Given the description of an element on the screen output the (x, y) to click on. 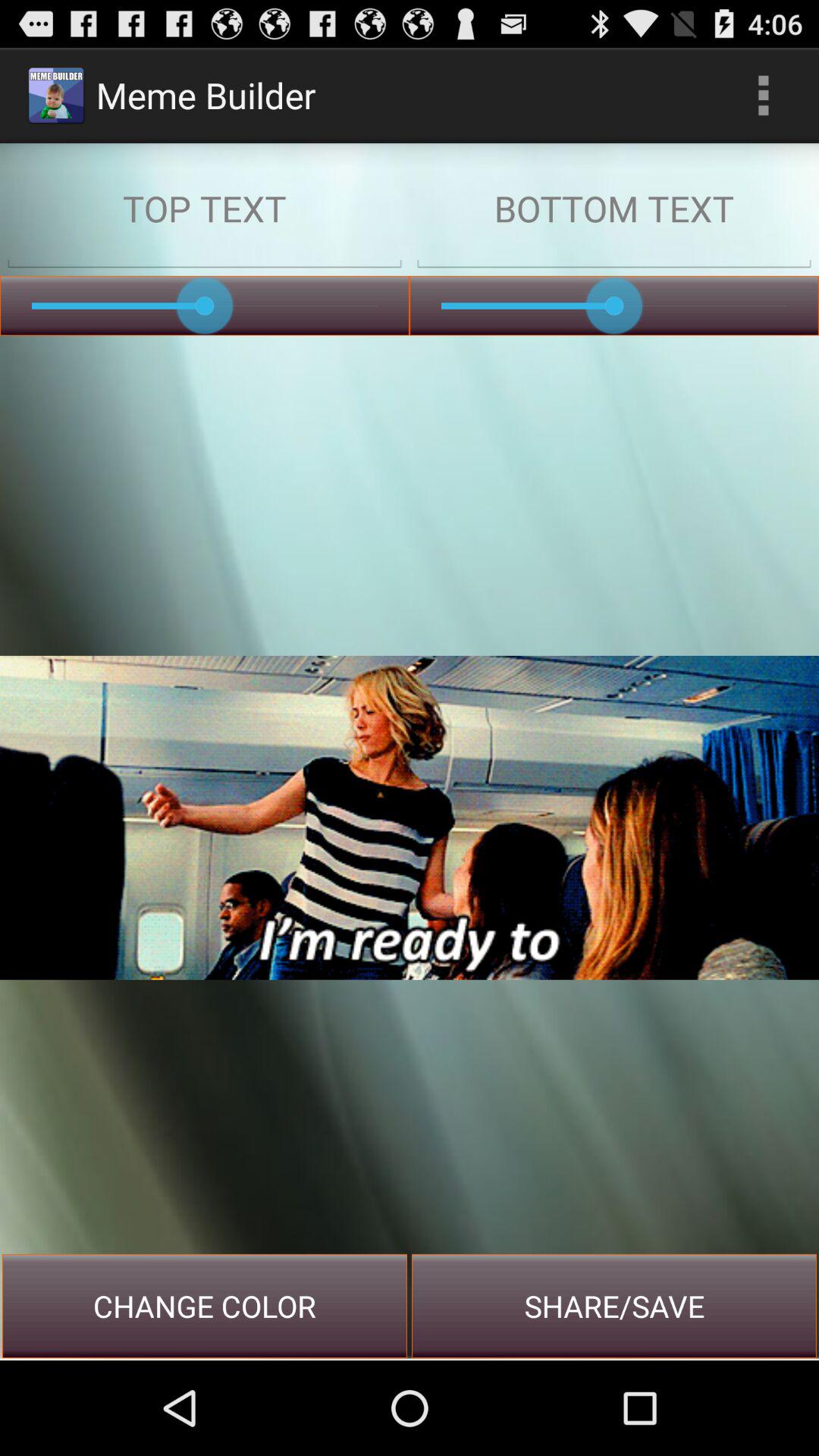
click the button to the right of the change color item (613, 1306)
